Given the description of an element on the screen output the (x, y) to click on. 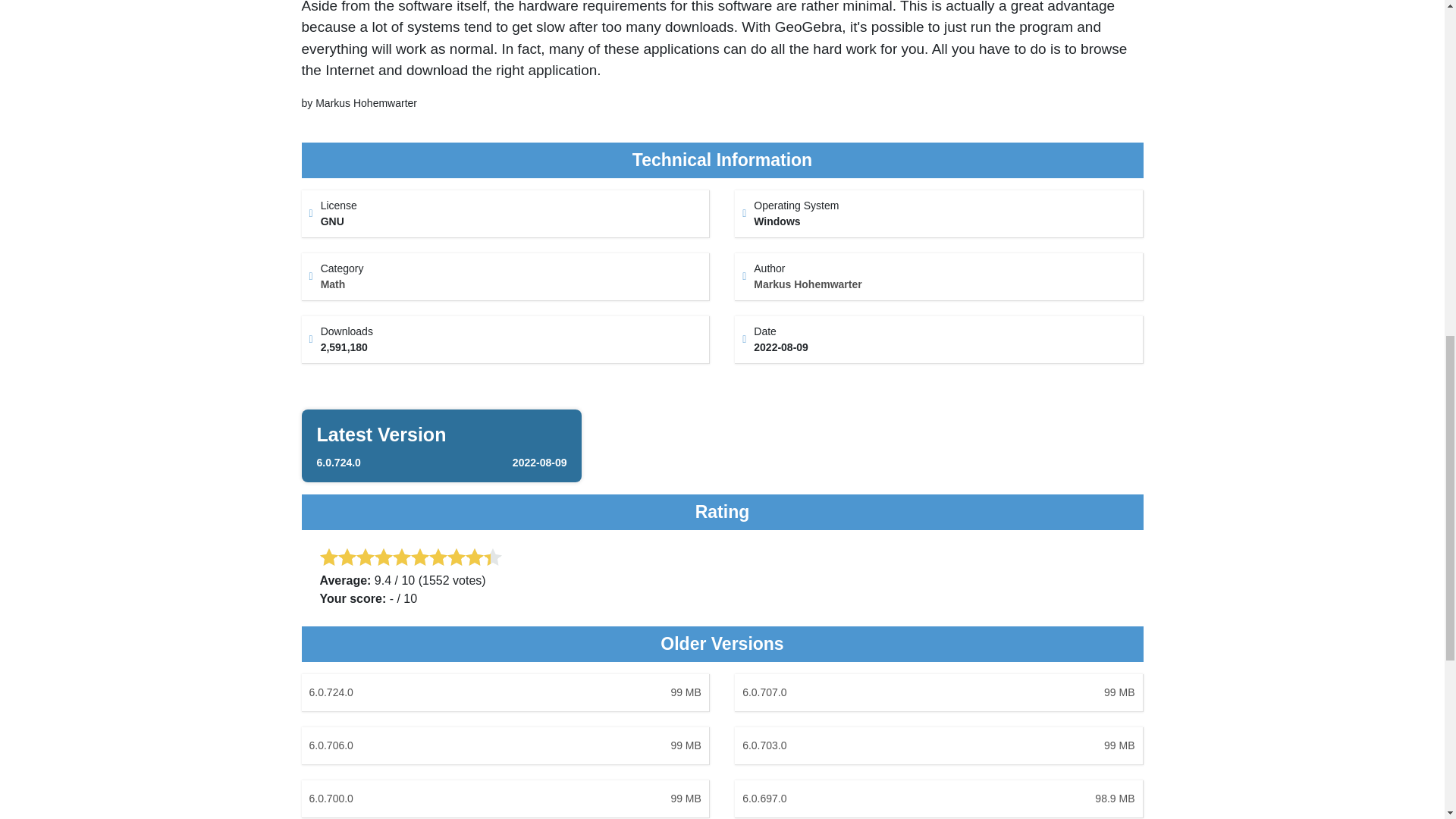
Math (505, 692)
Markus Hohemwarter (333, 284)
